Given the description of an element on the screen output the (x, y) to click on. 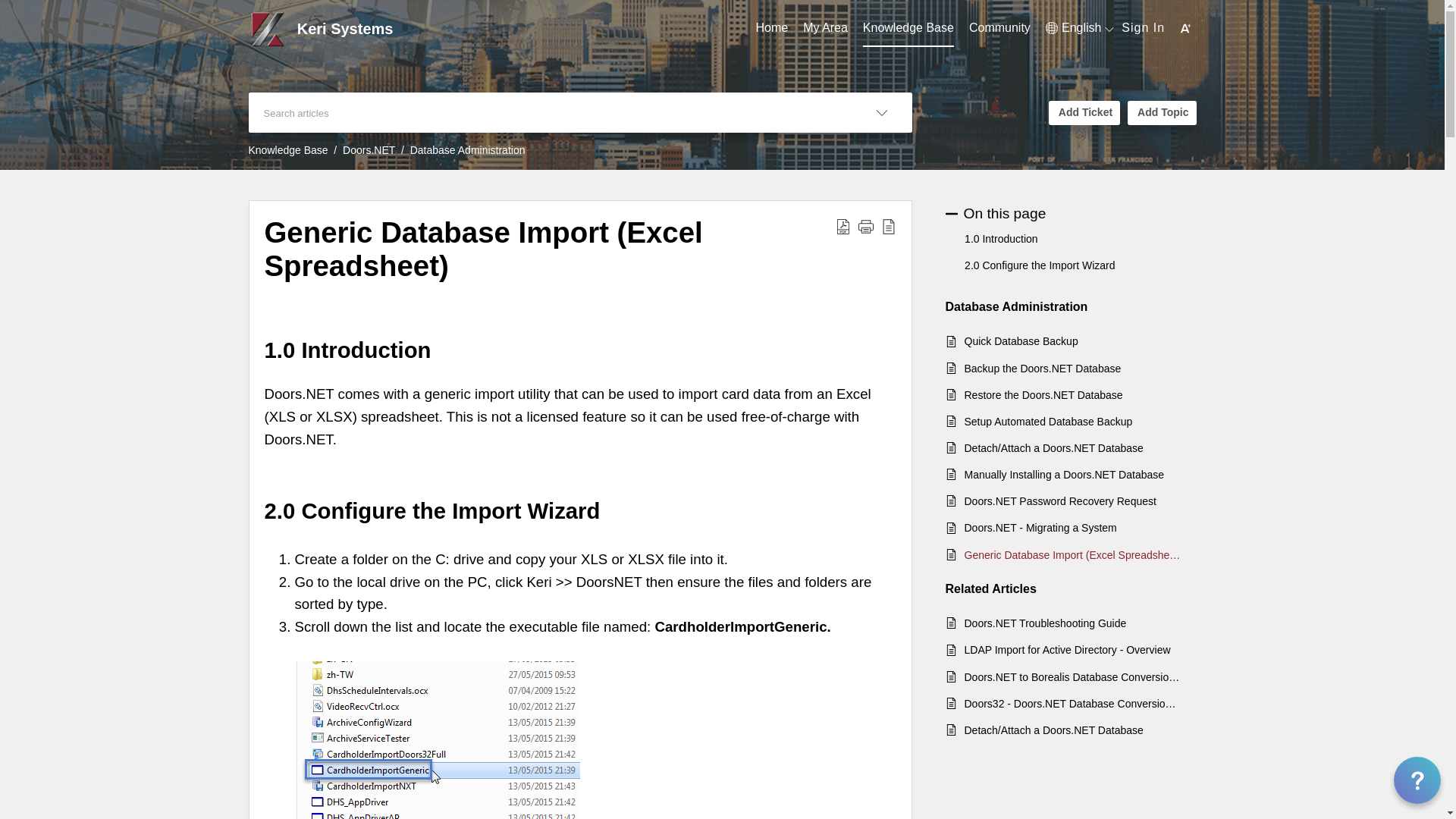
Knowledge Base (288, 150)
Doors.NET Troubleshooting Guide (1071, 623)
Knowledge Base (908, 27)
Manually Installing a Doors.NET Database (1071, 474)
Sign In (1142, 27)
My Area (825, 27)
1.0 Introduction (1000, 238)
Quick Database Backup (1071, 340)
Database Administration (467, 150)
Add Ticket (1083, 112)
LDAP Import for Active Directory - Overview (1071, 649)
Doors.NET (368, 150)
Home (771, 27)
Knowledge Base (908, 27)
Doors32 - Doors.NET Database Conversion FAQs (1071, 703)
